Given the description of an element on the screen output the (x, y) to click on. 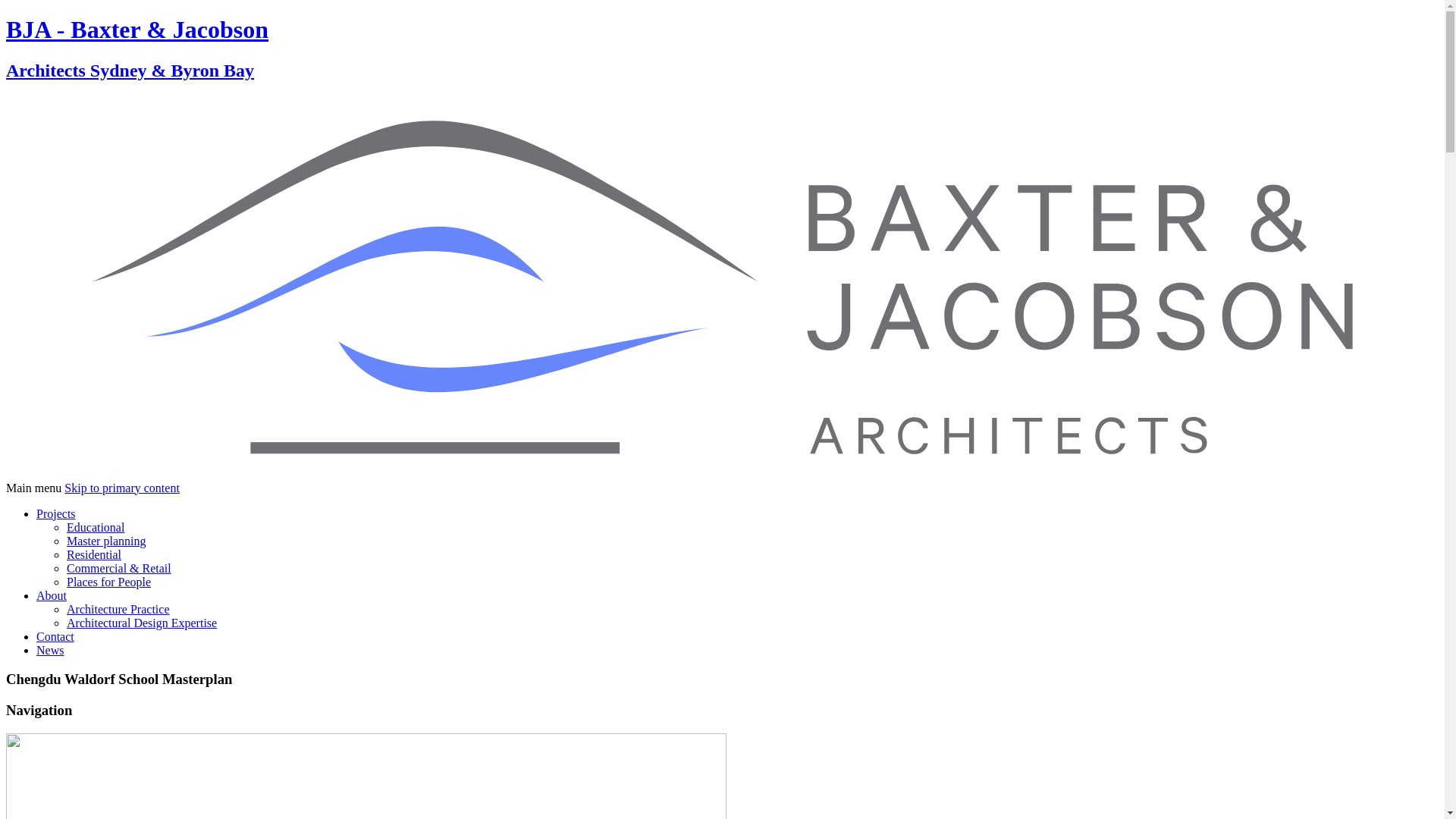
Places for People Element type: text (108, 580)
Skip to primary content Element type: text (121, 486)
Architectural Design Expertise Element type: text (141, 621)
Residential Element type: text (93, 553)
News Element type: text (49, 649)
BJA - Baxter & Jacobson
Architects Sydney & Byron Bay Element type: text (722, 247)
About Element type: text (51, 594)
Projects Element type: text (55, 512)
Commercial & Retail Element type: text (118, 567)
Architecture Practice Element type: text (117, 608)
Educational Element type: text (95, 526)
Contact Element type: text (55, 635)
Master planning Element type: text (105, 539)
